Given the description of an element on the screen output the (x, y) to click on. 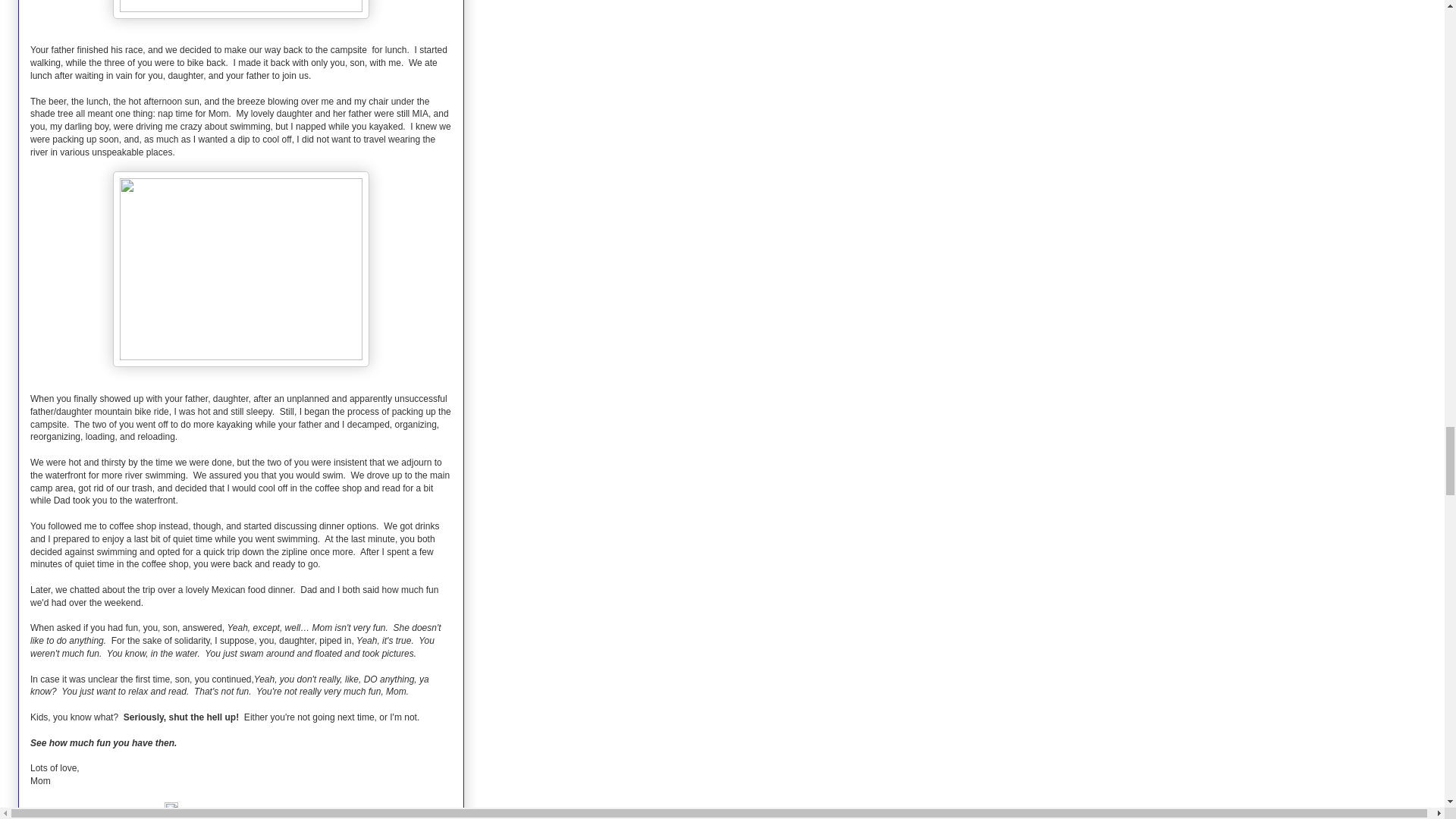
Share to Twitter (151, 818)
permanent link (143, 812)
BlogThis! (95, 818)
Share to Twitter (151, 818)
Email This (52, 818)
Email This (52, 818)
Edit Post (170, 812)
BlogThis! (95, 818)
